Given the description of an element on the screen output the (x, y) to click on. 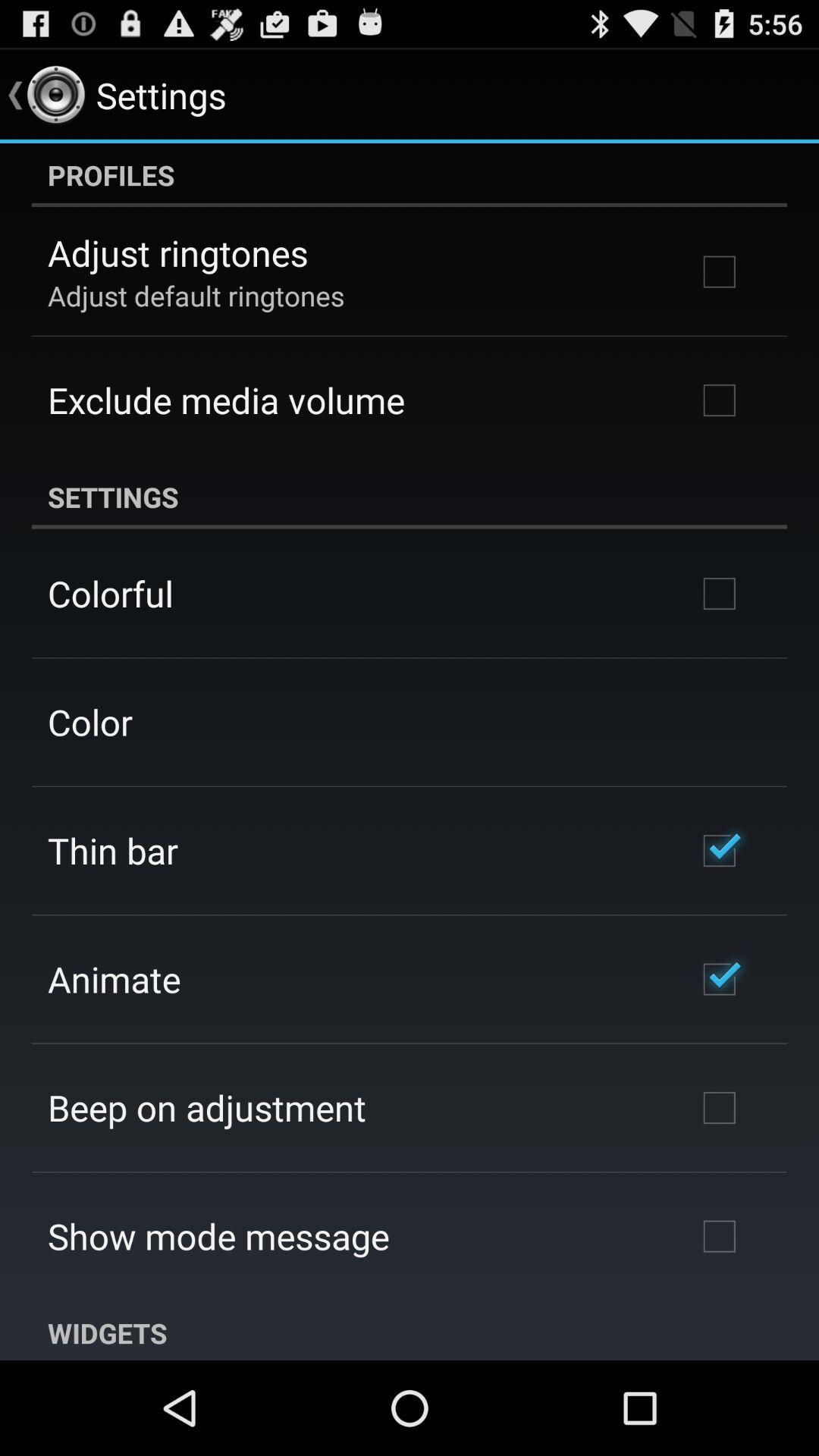
turn on the show mode message app (218, 1236)
